Given the description of an element on the screen output the (x, y) to click on. 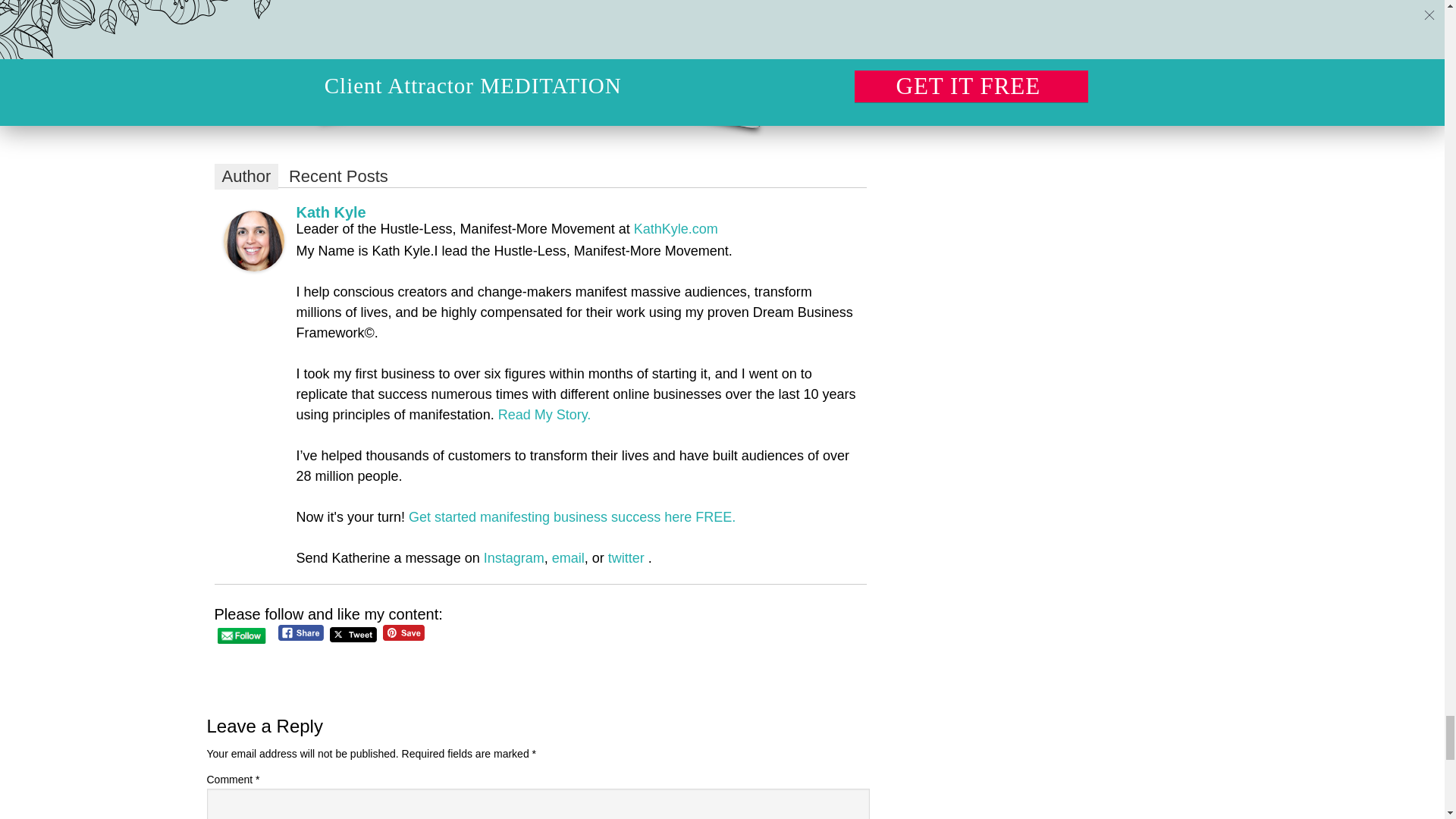
Tweet (353, 634)
Kath Kyle (252, 265)
Pin Share (403, 632)
Facebook Share (301, 632)
